Given the description of an element on the screen output the (x, y) to click on. 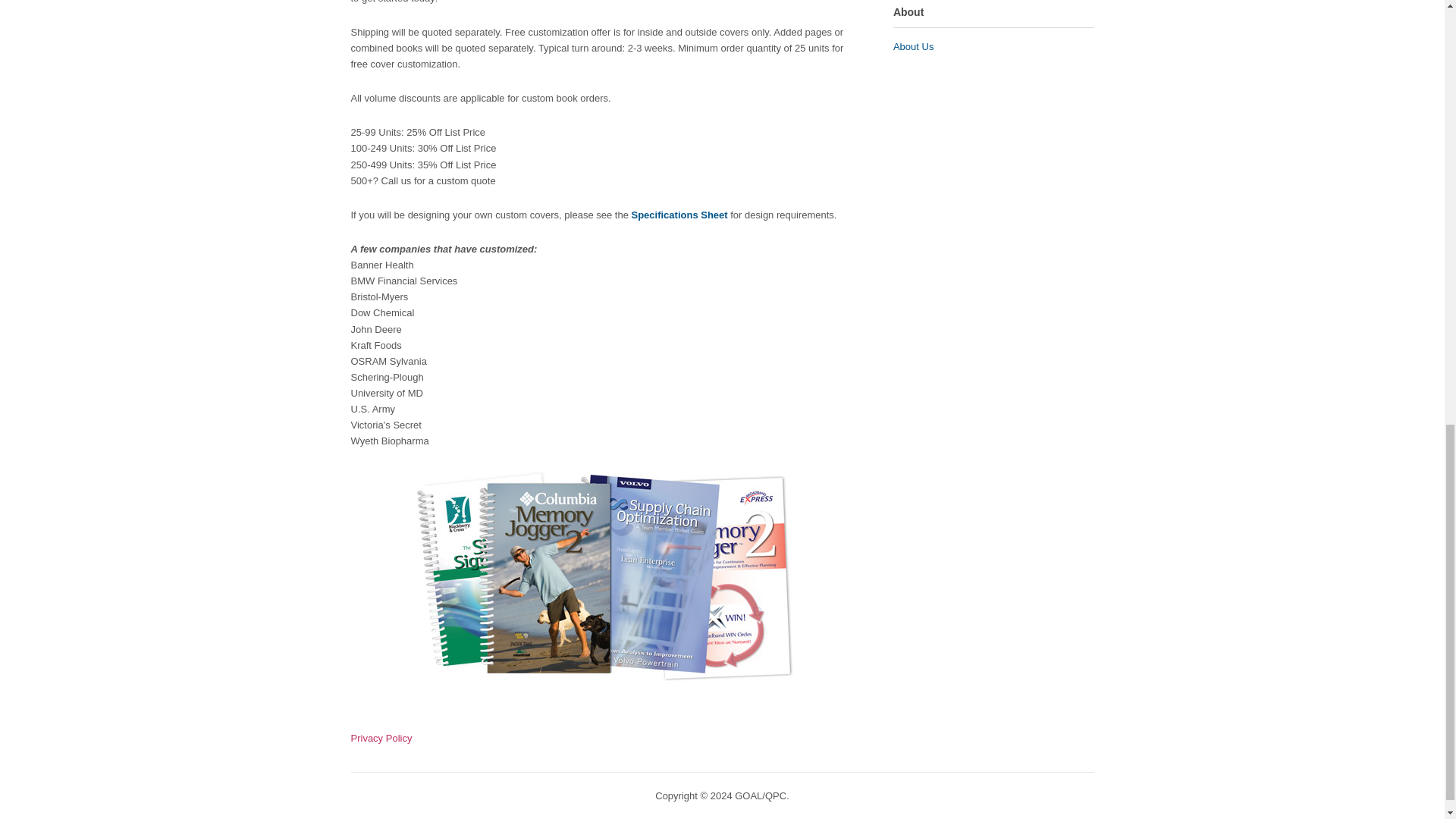
Specifications Sheet (678, 214)
About Us (913, 46)
